Given the description of an element on the screen output the (x, y) to click on. 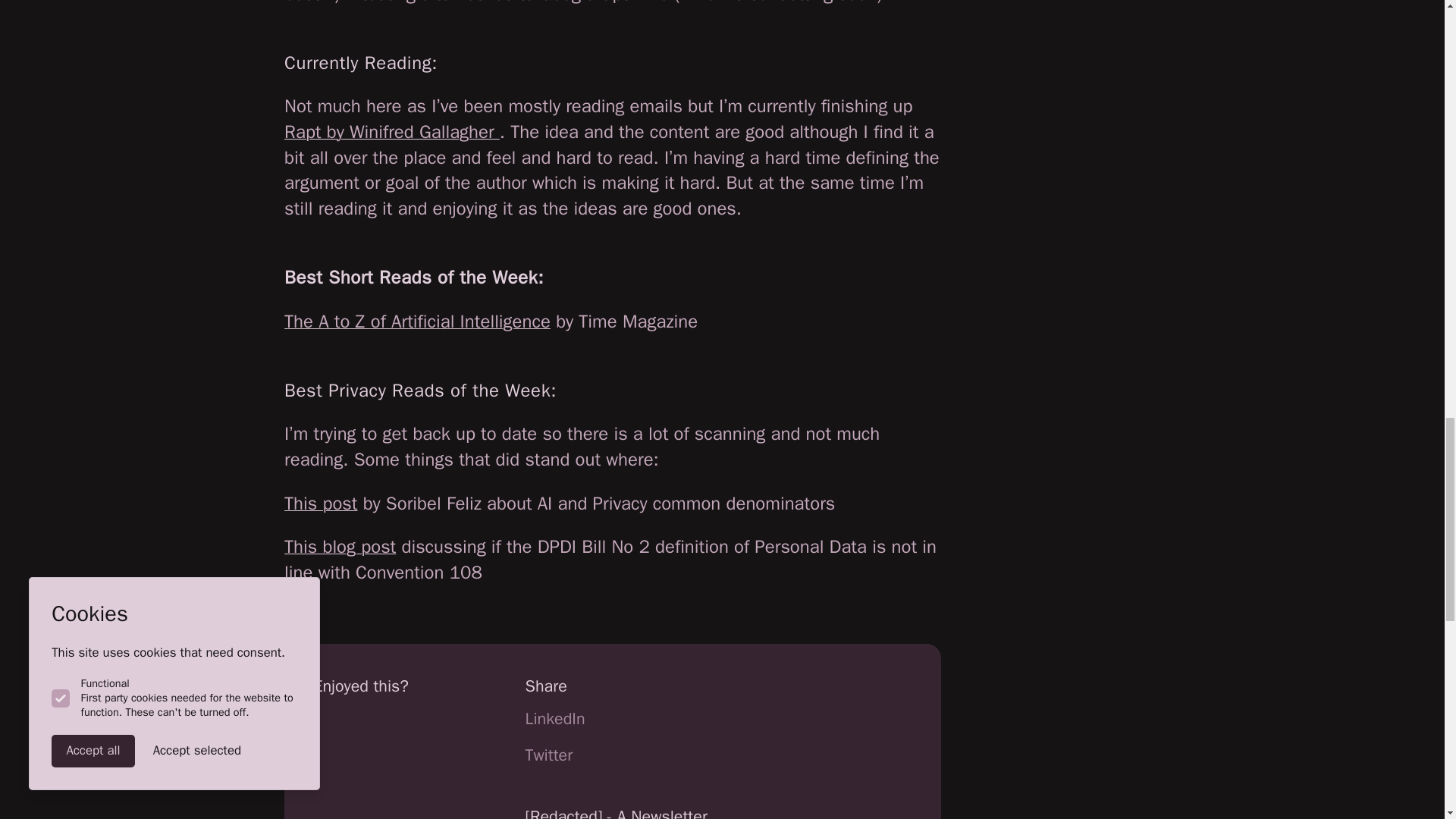
This blog post (339, 546)
The A to Z of Artificial Intelligence (416, 321)
Twitter (549, 754)
LinkedIn (555, 718)
Rapt by Winifred Gallagher (391, 131)
This post (319, 503)
